Given the description of an element on the screen output the (x, y) to click on. 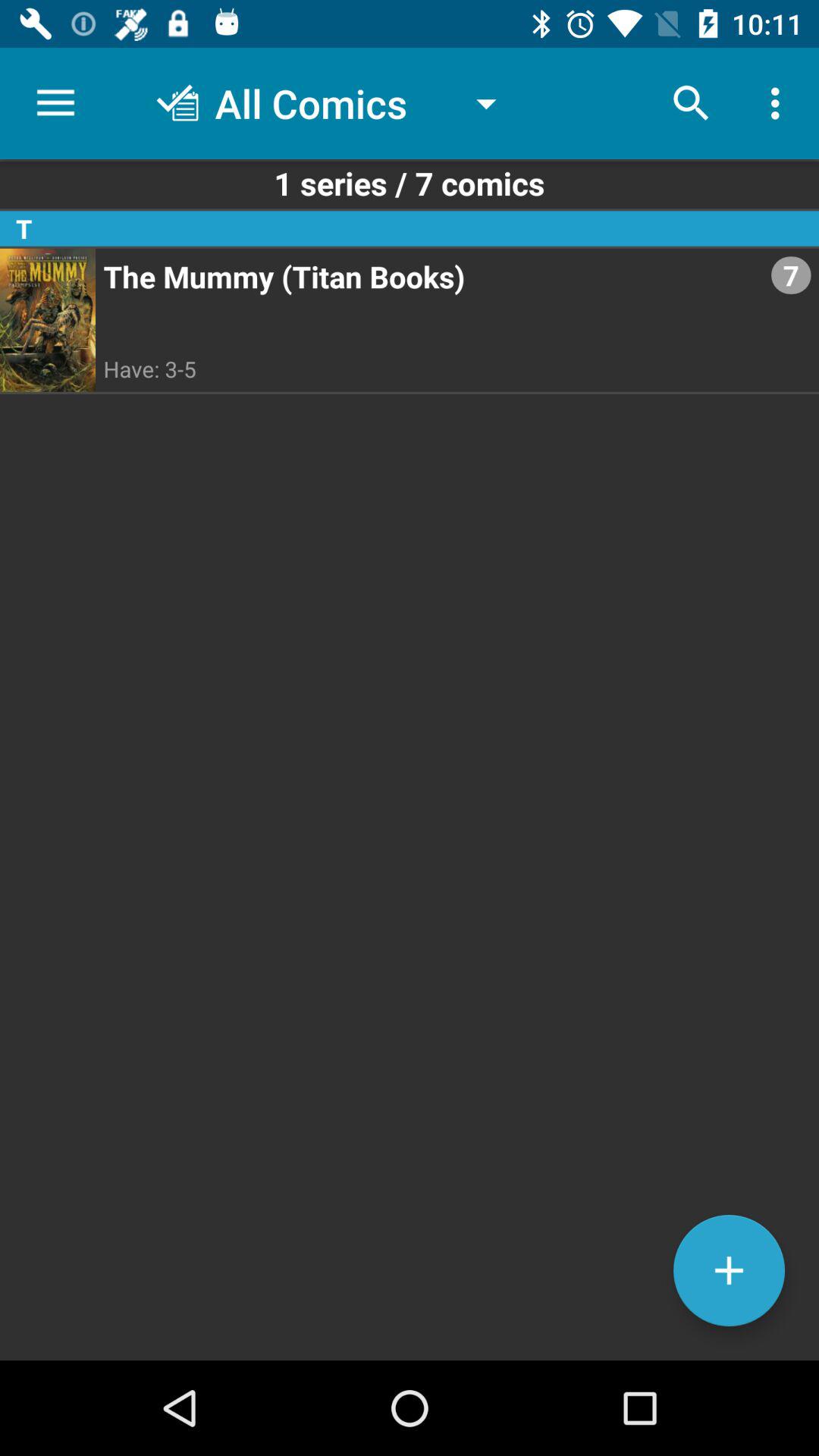
add new series (728, 1270)
